Given the description of an element on the screen output the (x, y) to click on. 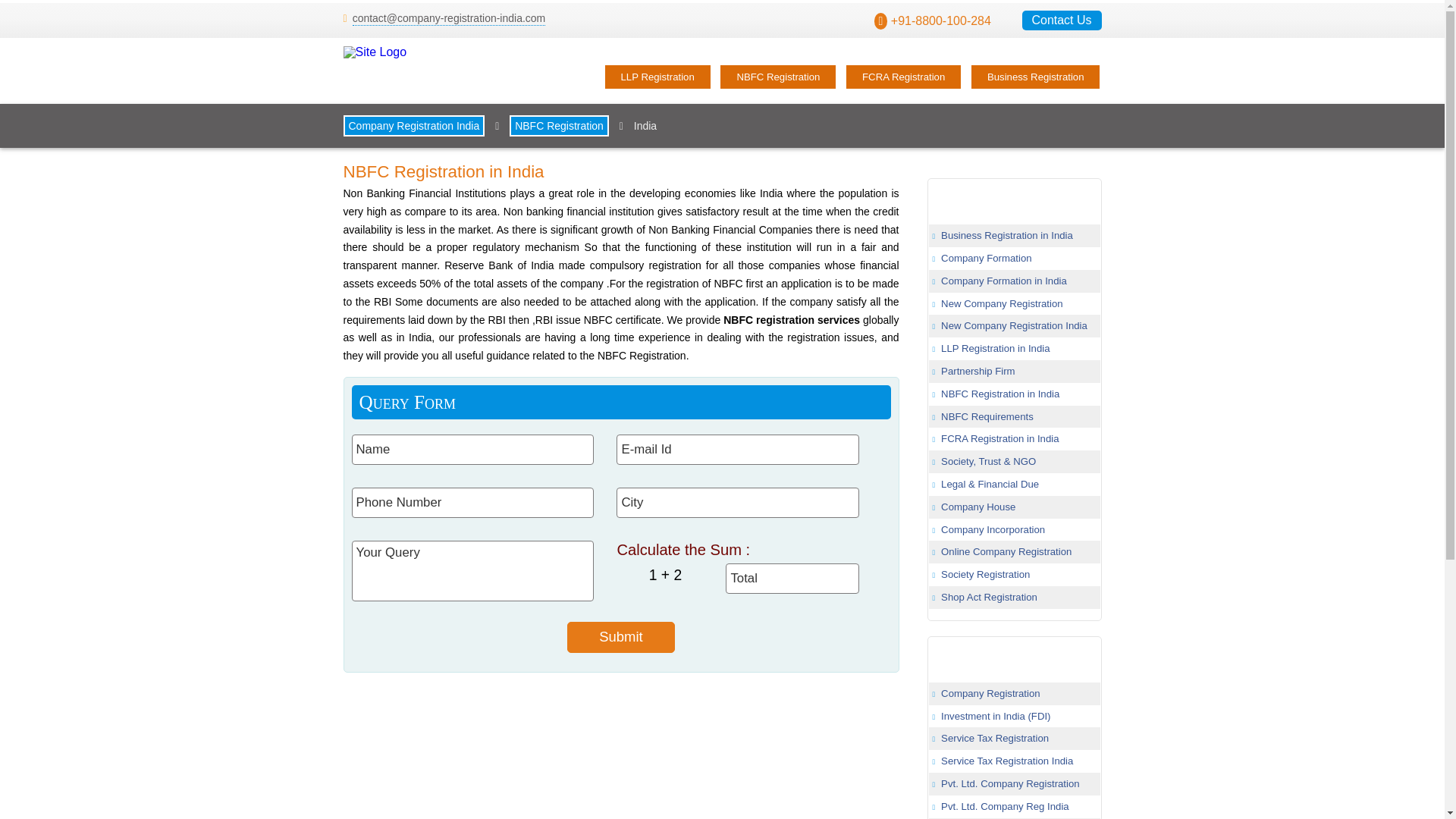
New Company Registration (1001, 303)
Pvt. Ltd. Company Reg India (1004, 806)
FCRA Registration (902, 76)
NBFC Requirements (986, 416)
Company Registration (989, 693)
LLP Registration in India (994, 348)
Submit (621, 636)
Pvt. Ltd. Company Registration (1010, 783)
Partnership Firm (977, 370)
Shop Act Registration (988, 596)
